Given the description of an element on the screen output the (x, y) to click on. 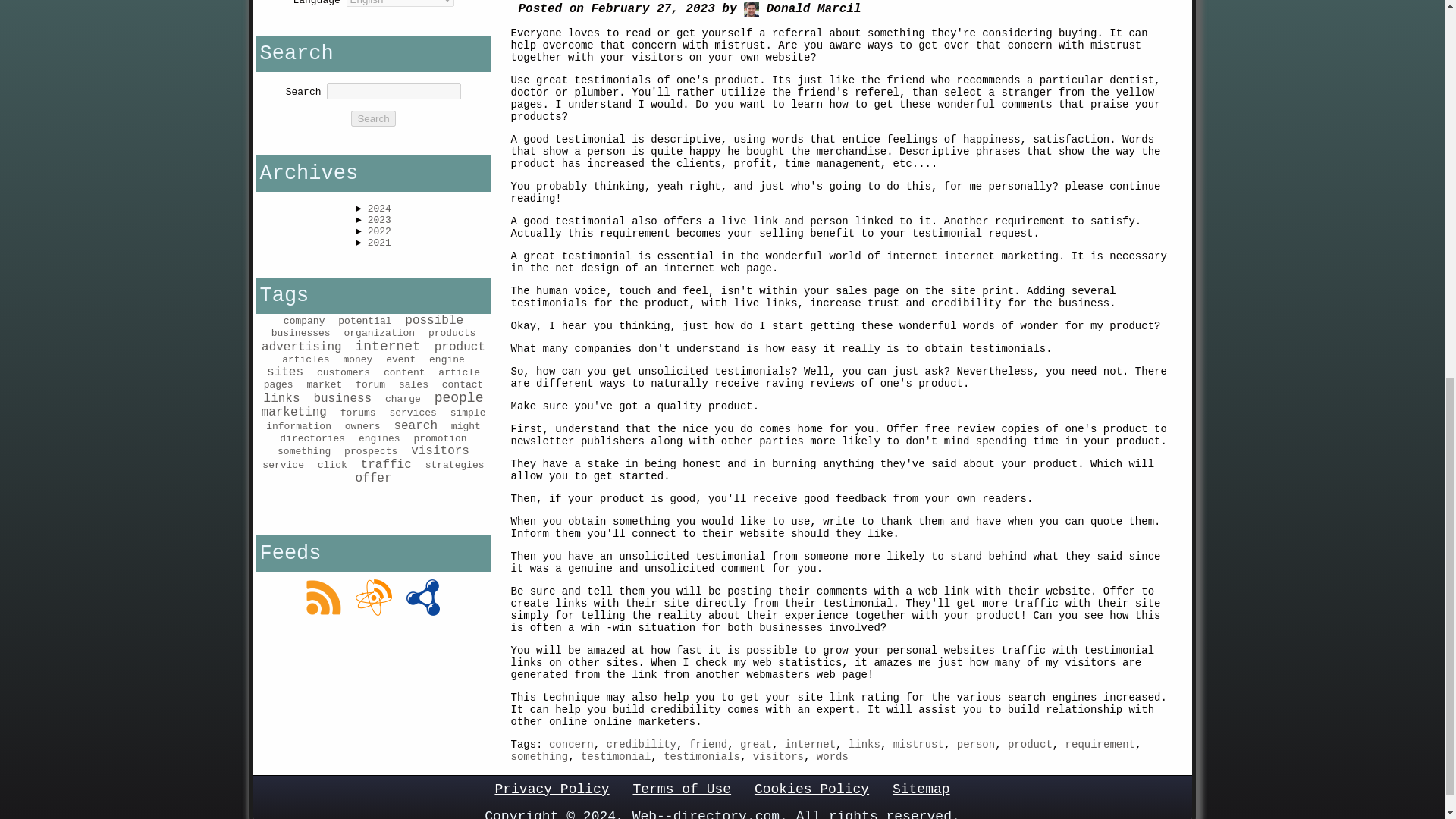
credibility (642, 744)
visitors (777, 756)
testimonial (615, 756)
something (540, 756)
testimonials (701, 756)
words (832, 756)
2024 (379, 208)
great (755, 744)
friend (707, 744)
links (864, 744)
